Given the description of an element on the screen output the (x, y) to click on. 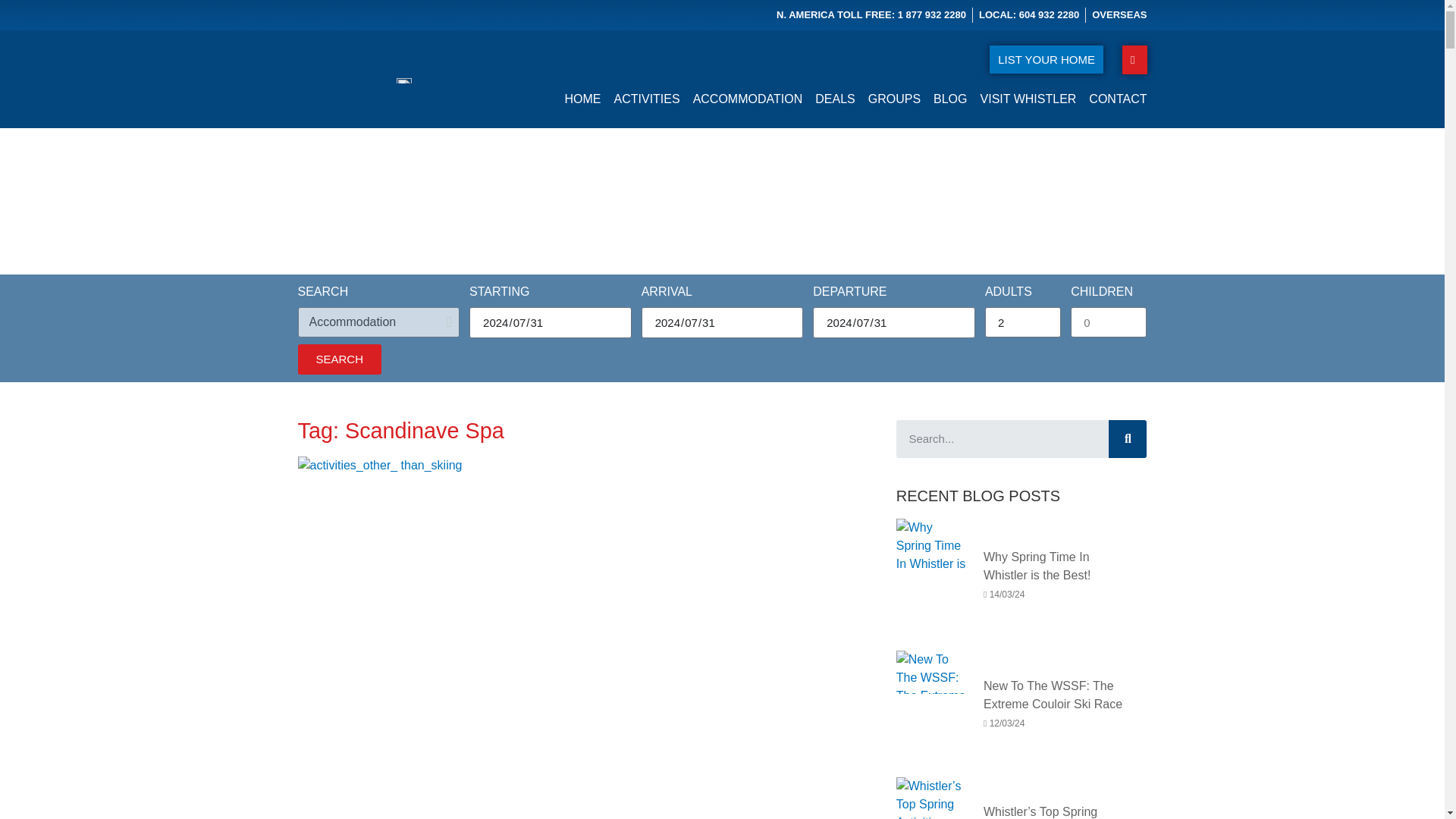
2024-07-31 (549, 321)
2 (1023, 322)
OVERSEAS (1119, 14)
2024-07-31 (893, 321)
HOME (582, 99)
2024-07-31 (722, 321)
ACTIVITIES (646, 99)
LOCAL: 604 932 2280 (1028, 14)
LIST YOUR HOME (1046, 59)
N. AMERICA TOLL FREE: 1 877 932 2280 (871, 14)
